Given the description of an element on the screen output the (x, y) to click on. 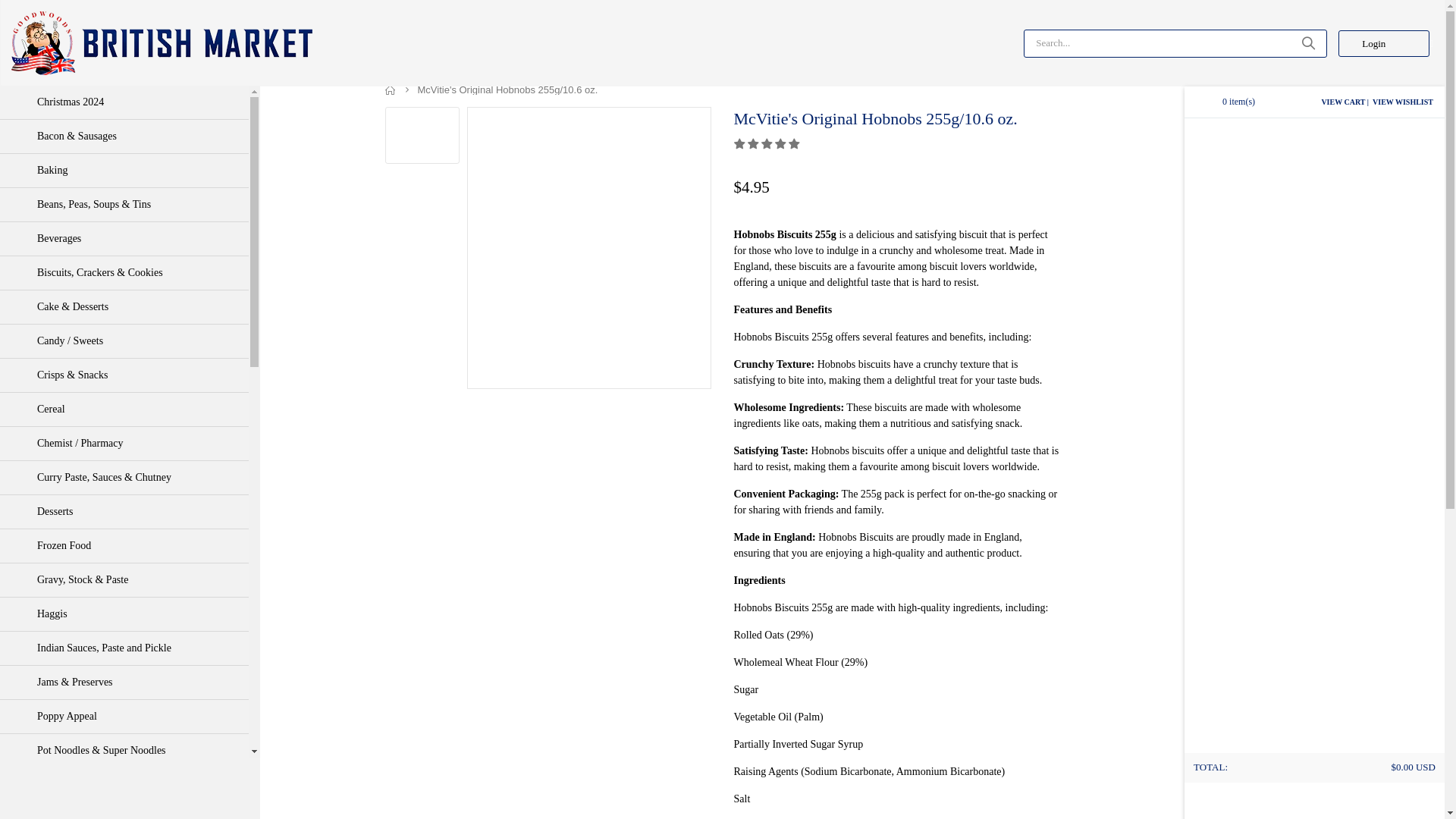
Back to the frontpage (390, 90)
Login (1383, 43)
Christmas 2024 (124, 101)
Cereal (124, 409)
Search (1307, 43)
VIEW WISHLIST (1402, 101)
Beverages (124, 238)
Baking (124, 170)
Frozen Food (124, 545)
Desserts (124, 511)
